Given the description of an element on the screen output the (x, y) to click on. 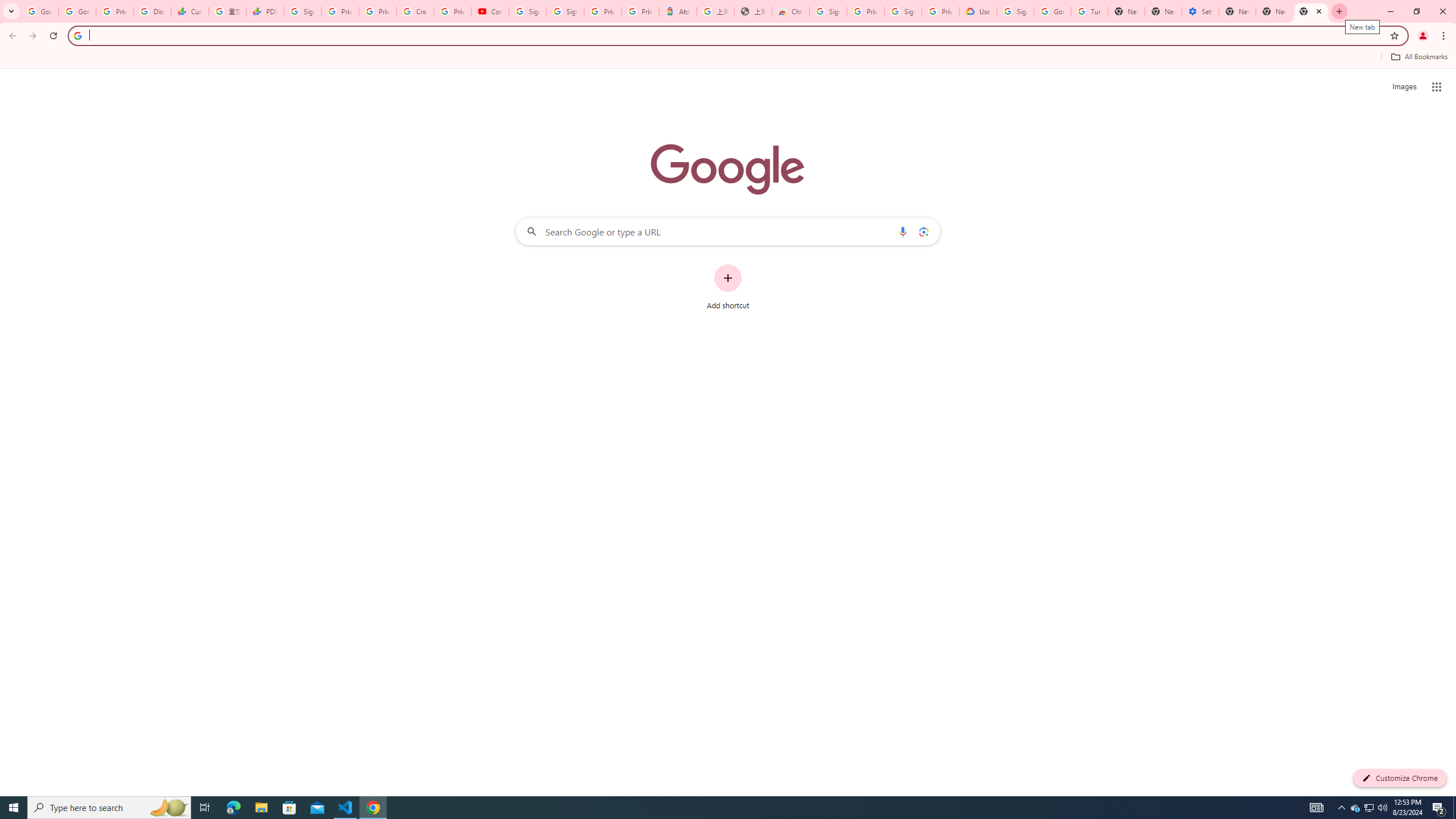
Bookmarks (728, 58)
Sign in - Google Accounts (903, 11)
Google Account Help (1052, 11)
Search icon (77, 35)
